Given the description of an element on the screen output the (x, y) to click on. 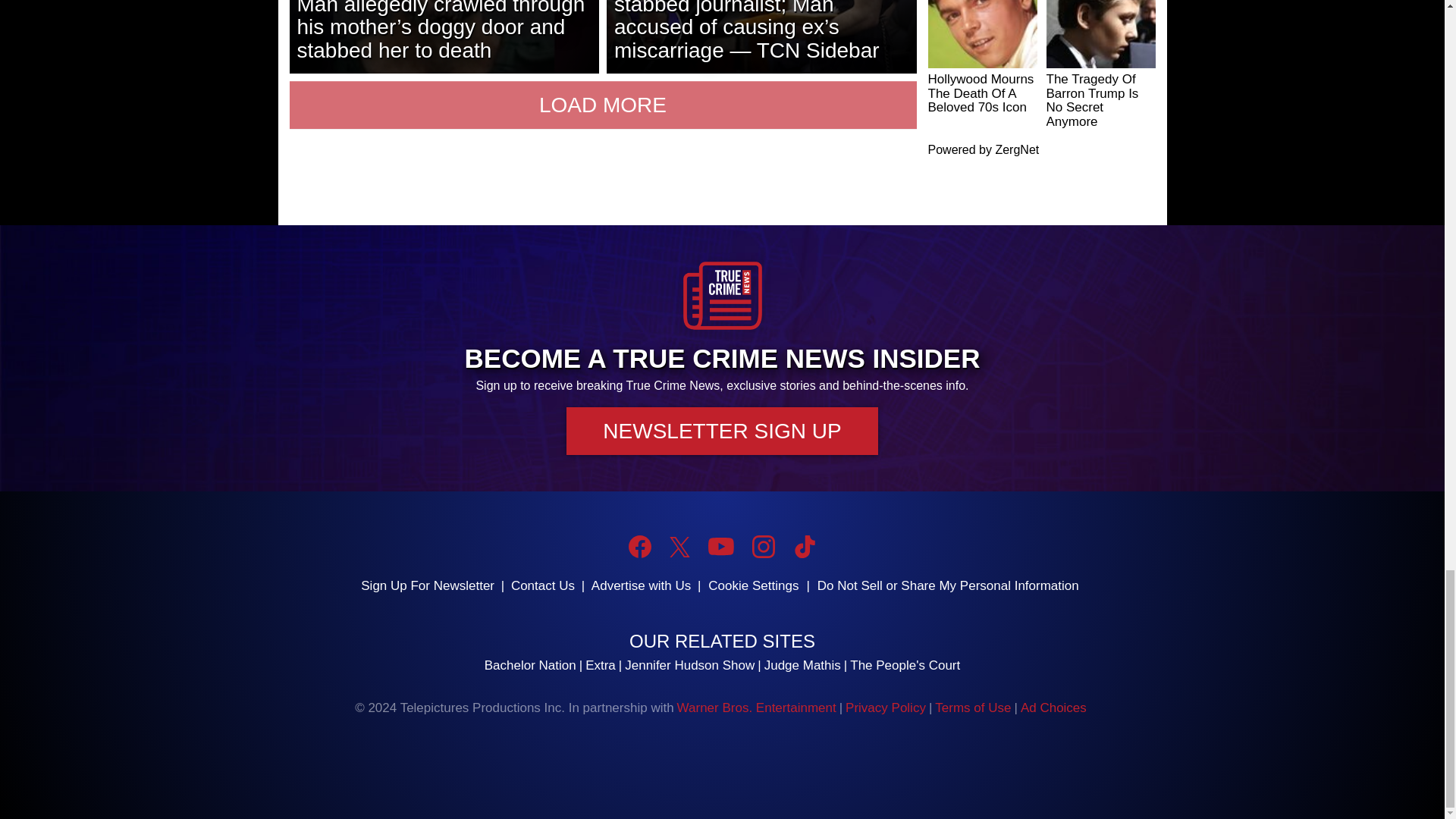
TikTok (804, 546)
YouTube (720, 546)
Facebook (639, 546)
Instagram (763, 546)
Twitter (679, 547)
